Given the description of an element on the screen output the (x, y) to click on. 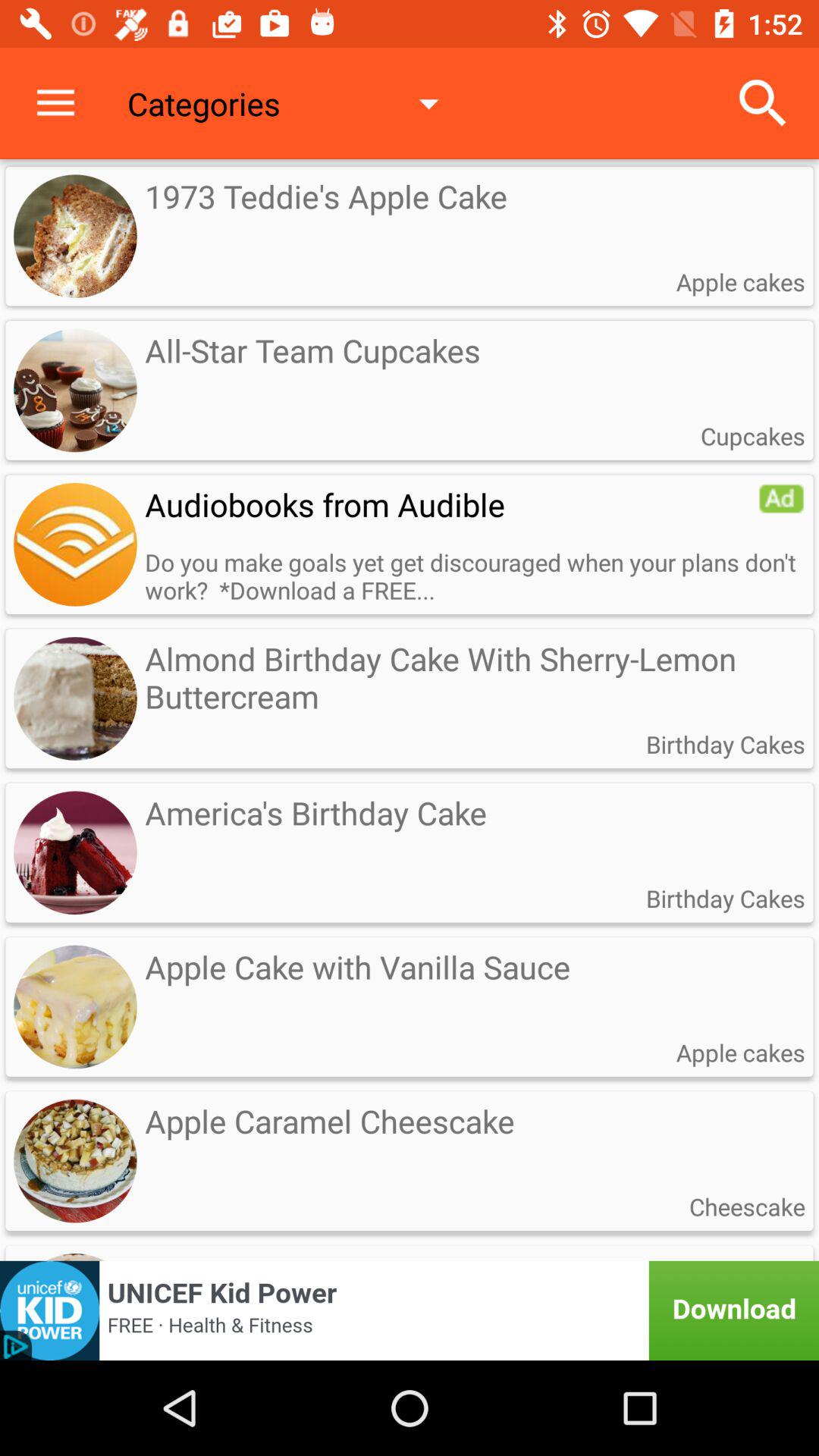
go to audible app page (75, 544)
